Given the description of an element on the screen output the (x, y) to click on. 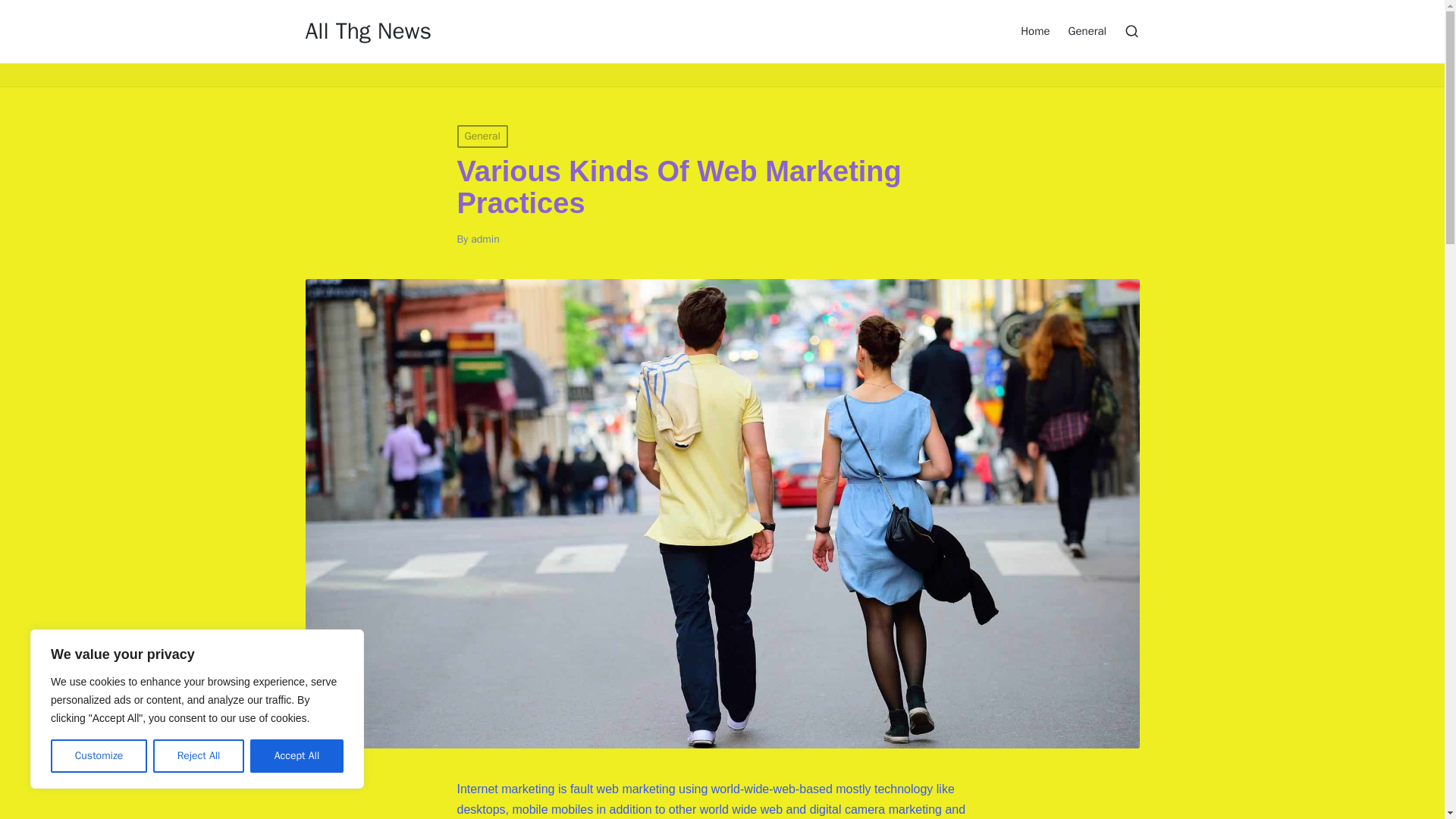
Accept All (296, 756)
Customize (98, 756)
View all posts by  (484, 238)
General (481, 136)
All Thg News (367, 31)
Home (1034, 30)
General (1087, 30)
admin (484, 238)
Reject All (198, 756)
